Given the description of an element on the screen output the (x, y) to click on. 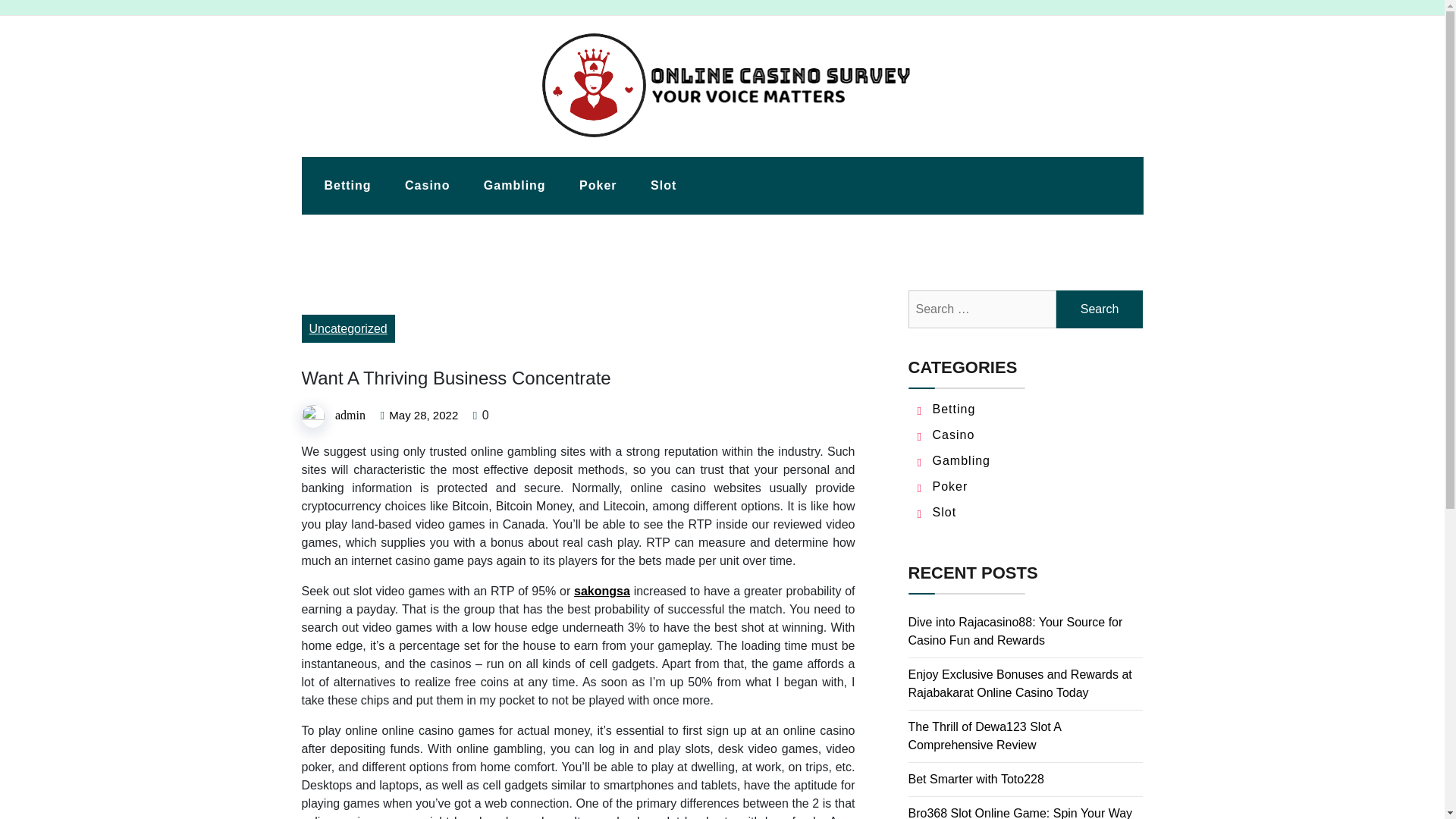
Poker (950, 486)
Betting (347, 185)
Search (1099, 309)
Casino (954, 434)
The Thrill of Dewa123 Slot A Comprehensive Review (984, 735)
May 28, 2022 (423, 415)
sakongsa (601, 590)
Gambling (514, 185)
Gambling (961, 460)
Bro368 Slot Online Game: Spin Your Way to Riches (1020, 812)
Online Casino Survey (399, 148)
Betting (954, 408)
Uncategorized (347, 328)
